Given the description of an element on the screen output the (x, y) to click on. 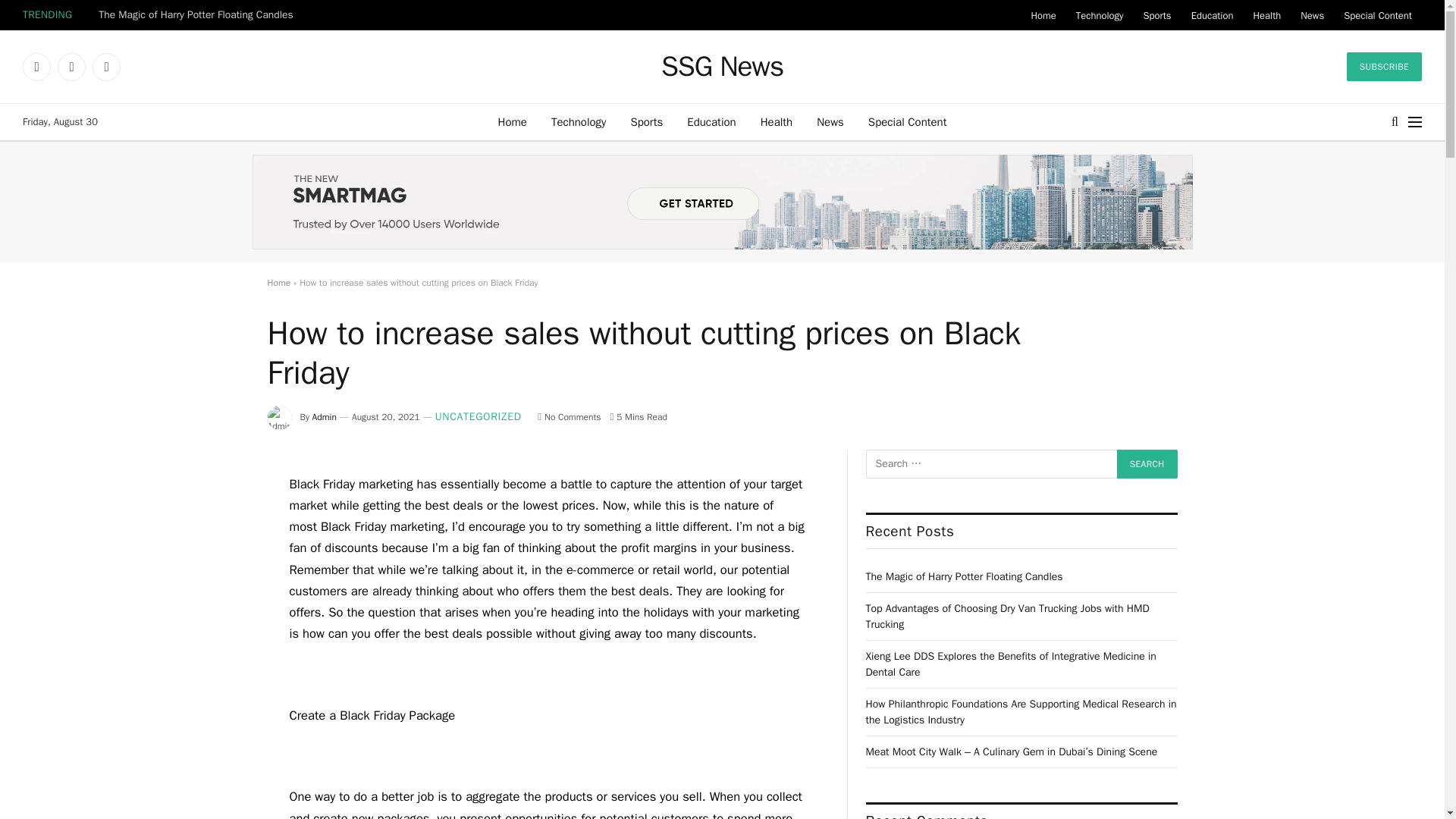
Special Content (1377, 15)
Technology (578, 122)
Instagram (106, 67)
Special Content (907, 122)
The Magic of Harry Potter Floating Candles (199, 15)
Search (1146, 463)
Sports (1156, 15)
Education (1211, 15)
SUBSCRIBE (1384, 66)
SSG News (722, 66)
